Given the description of an element on the screen output the (x, y) to click on. 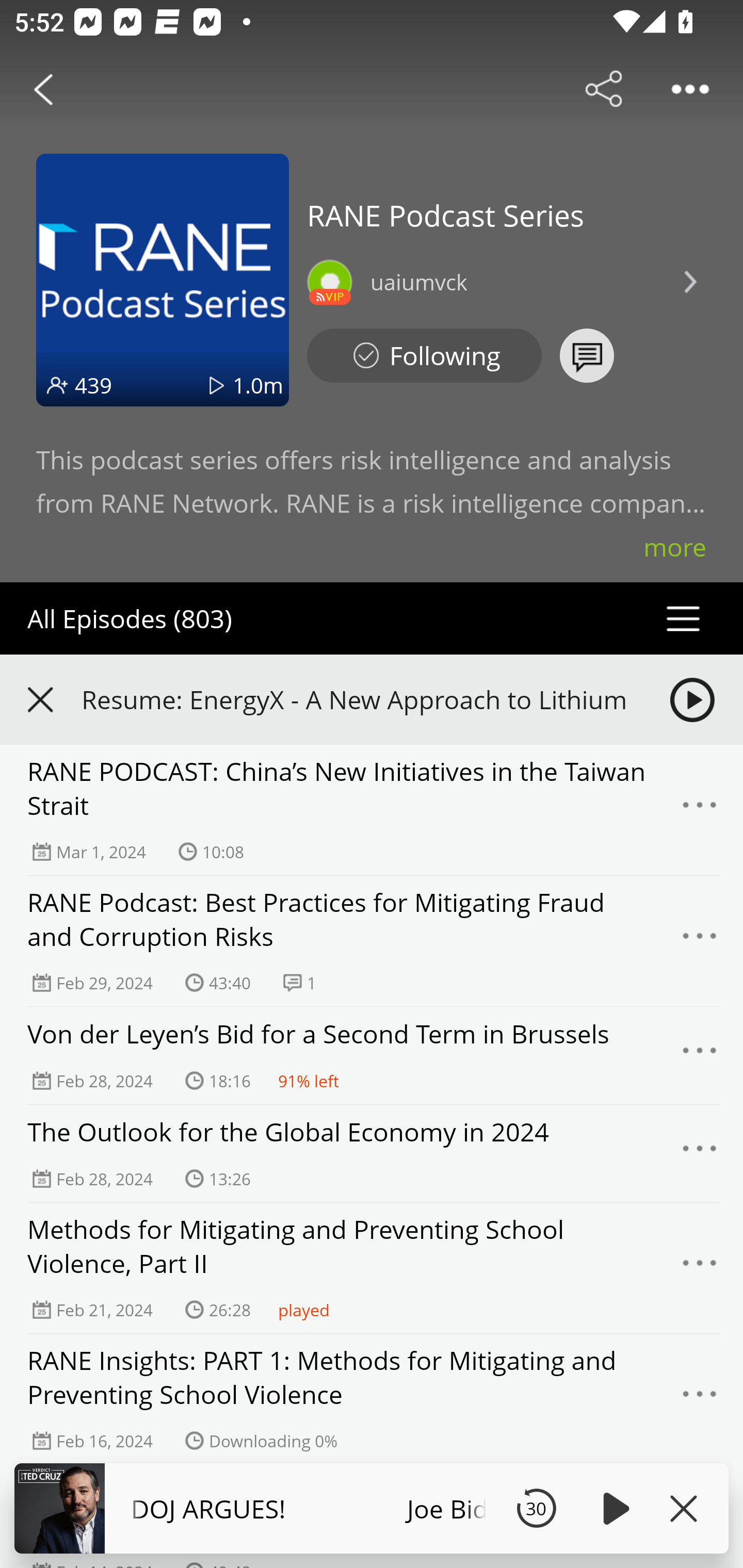
Back (43, 88)
Podbean Following (423, 355)
439 (93, 384)
more (674, 546)
Resume: EnergyX - A New Approach to Lithium (371, 698)
Resume: EnergyX - A New Approach to Lithium (357, 698)
Menu (699, 809)
Menu (699, 941)
Menu (699, 1055)
Menu (699, 1153)
Menu (699, 1268)
Menu (699, 1399)
Play (613, 1507)
30 Seek Backward (536, 1508)
